Given the description of an element on the screen output the (x, y) to click on. 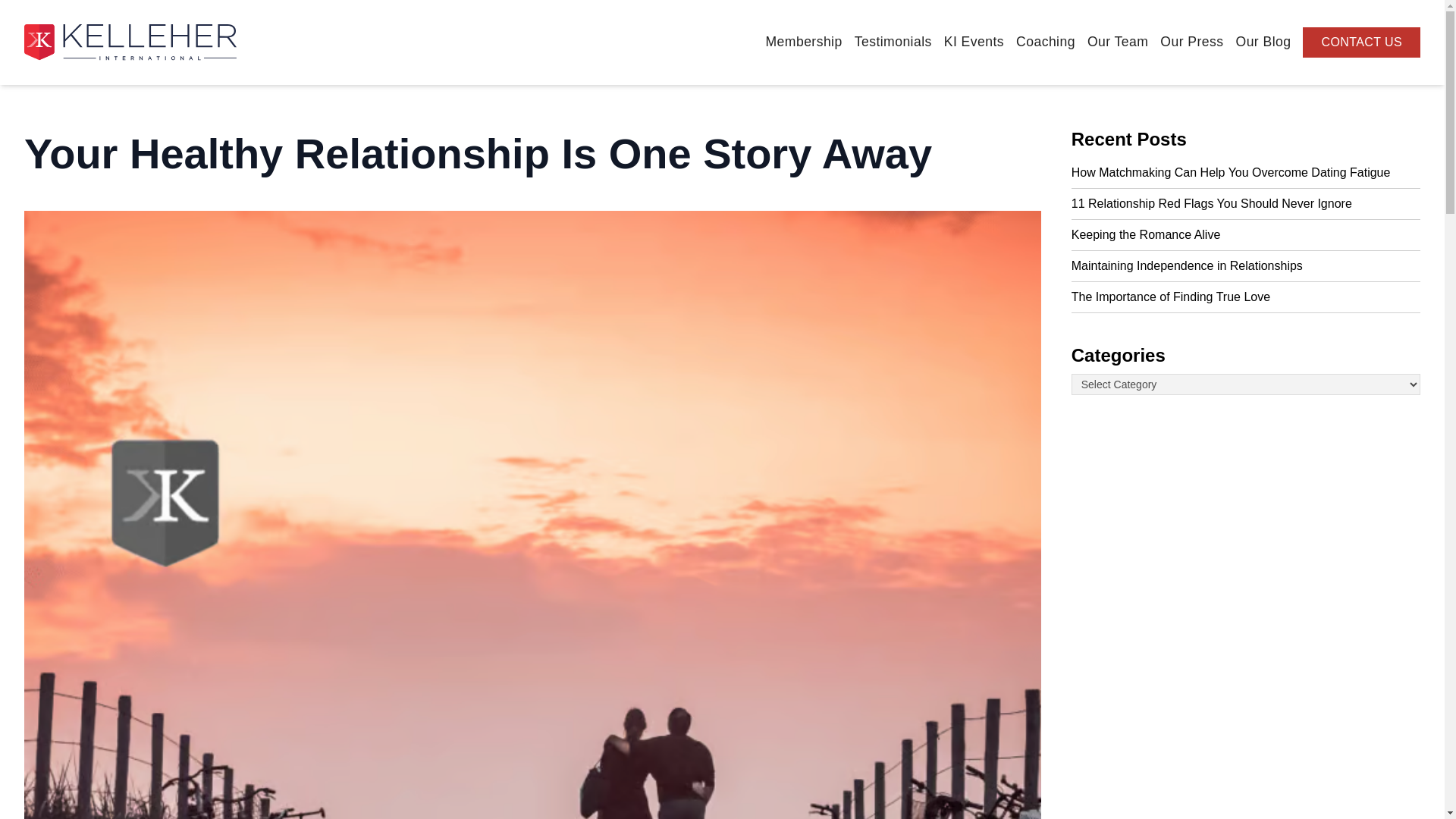
Keeping the Romance Alive (1246, 235)
CONTACT US (1361, 42)
Membership (803, 41)
Our Blog (1263, 41)
Our Press (1191, 41)
The Importance of Finding True Love (1246, 296)
Testimonials (892, 41)
11 Relationship Red Flags You Should Never Ignore (1246, 204)
Our Team (1117, 41)
KI Events (973, 41)
How Matchmaking Can Help You Overcome Dating Fatigue (1246, 173)
Coaching (1045, 41)
Maintaining Independence in Relationships (1246, 265)
